Given the description of an element on the screen output the (x, y) to click on. 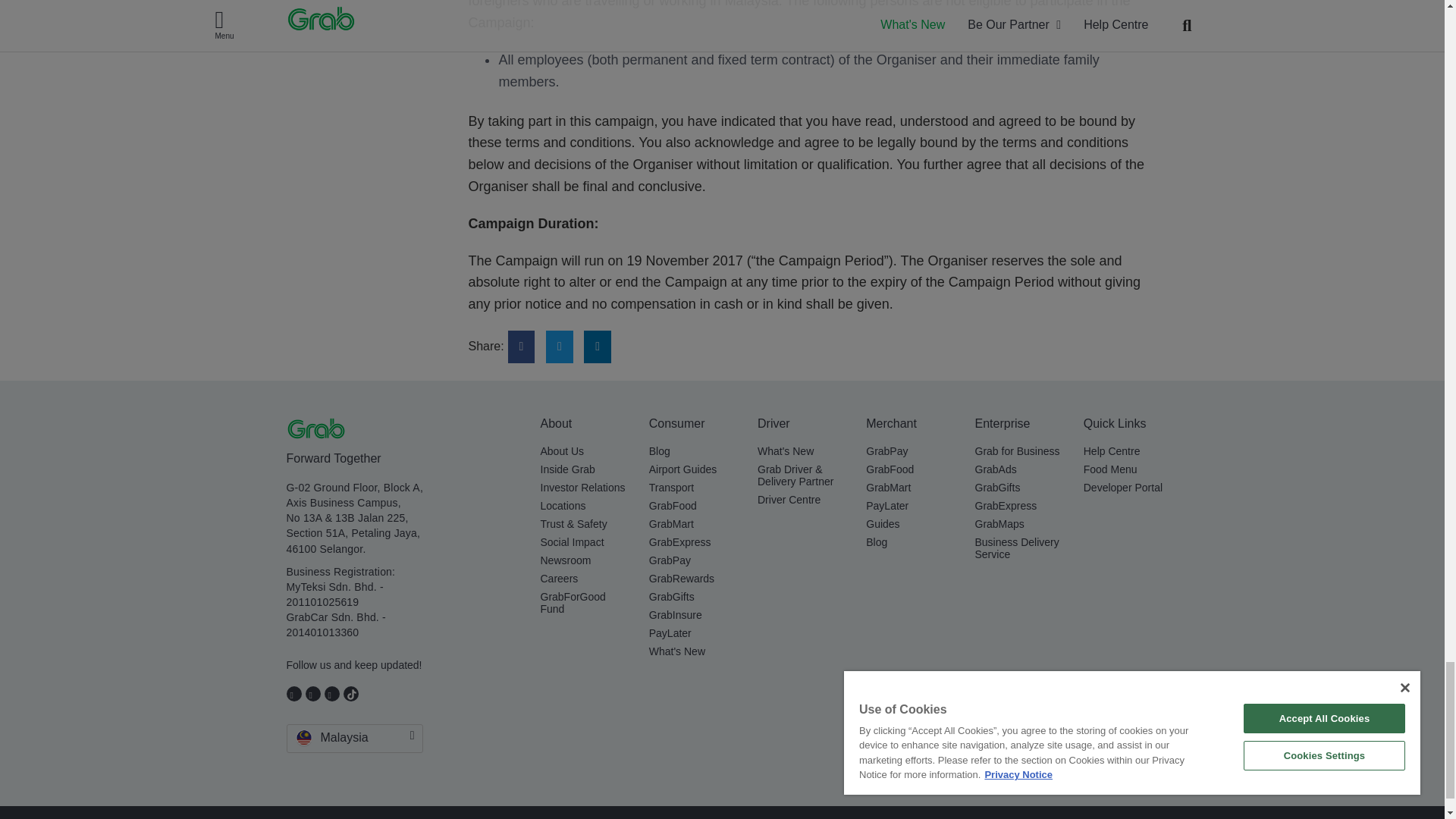
Tweet this! (559, 345)
Share on Facebook. (521, 345)
